Given the description of an element on the screen output the (x, y) to click on. 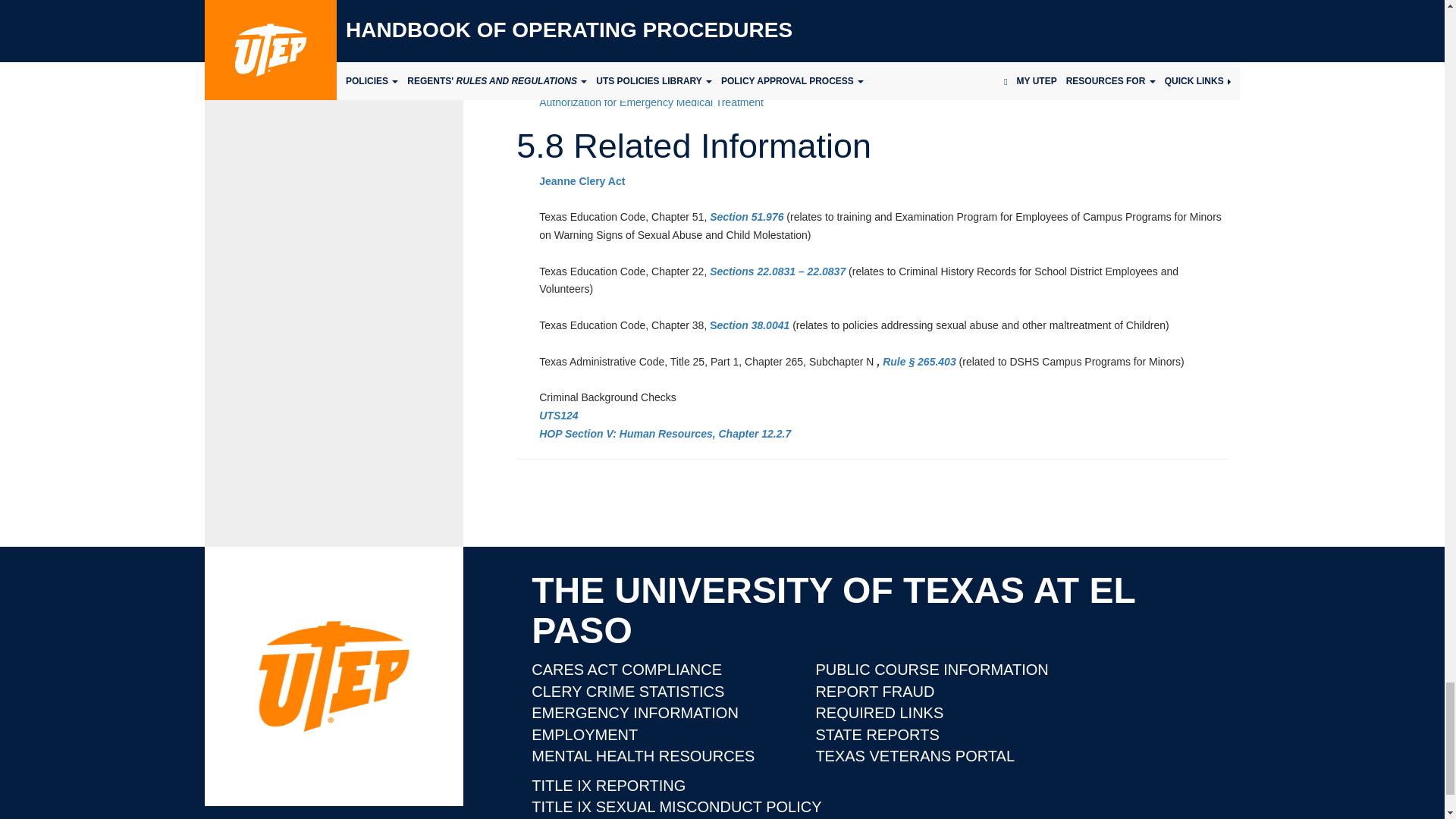
UTEP (334, 676)
